Given the description of an element on the screen output the (x, y) to click on. 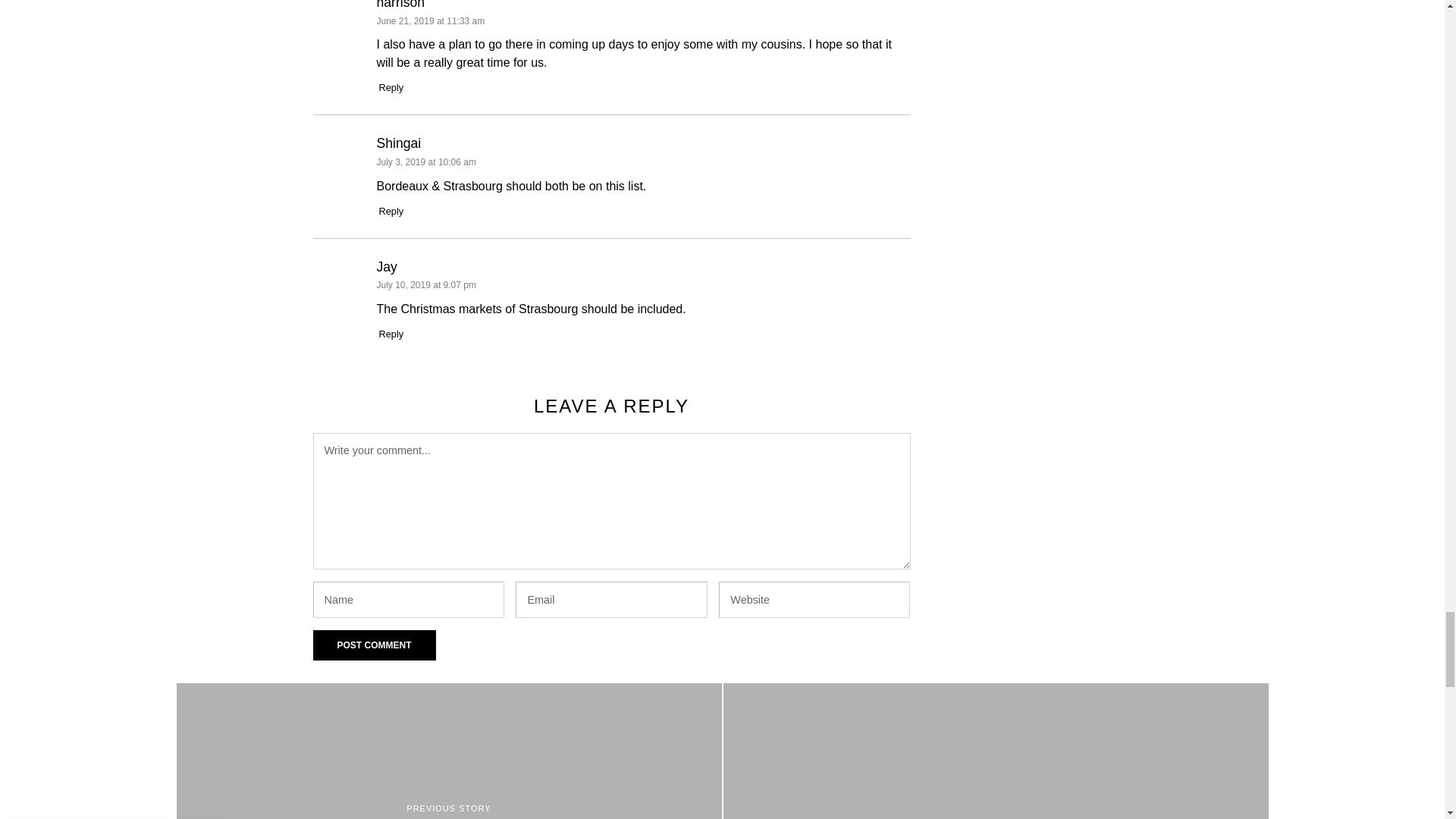
Post Comment (374, 644)
